Given the description of an element on the screen output the (x, y) to click on. 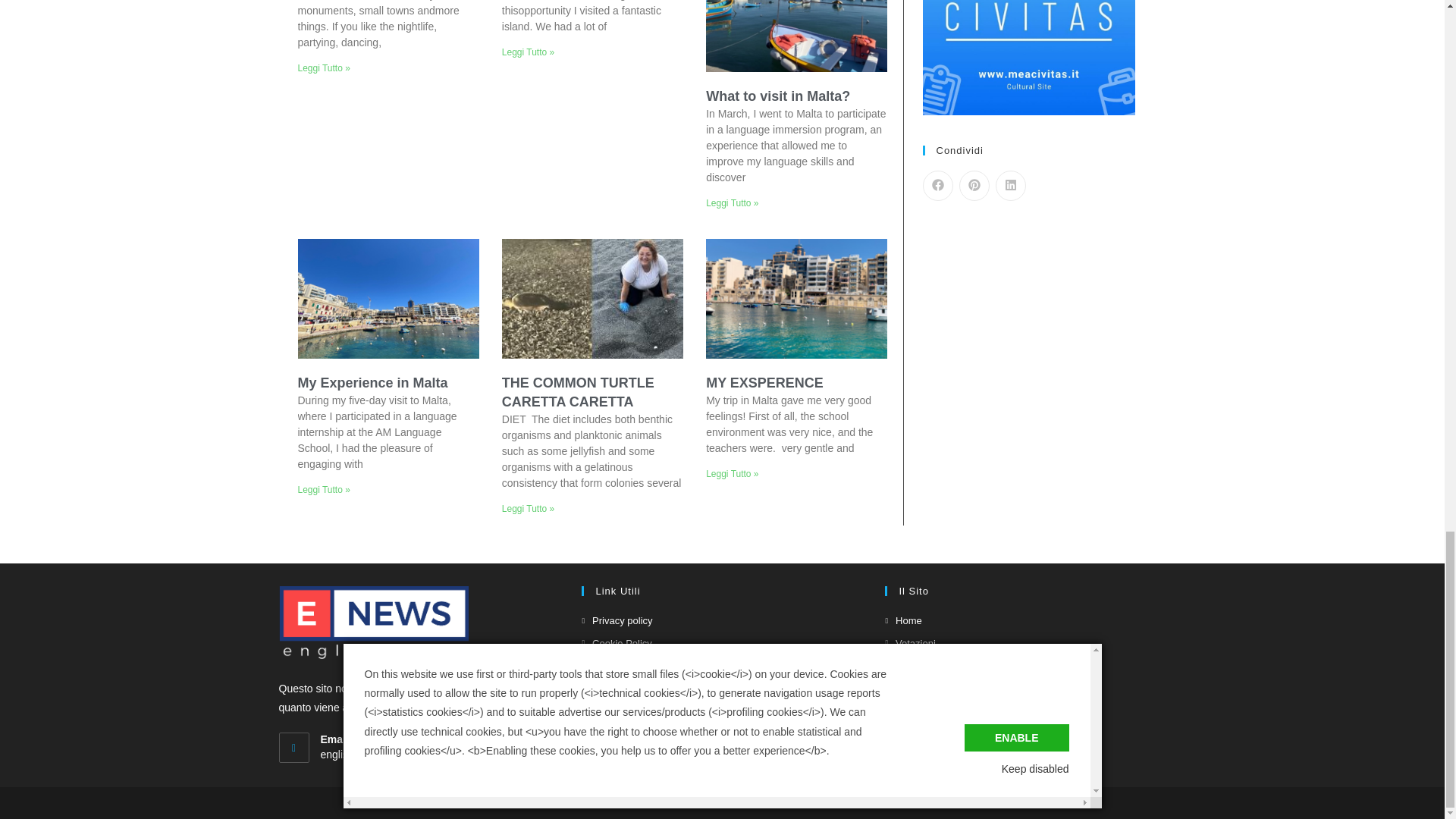
Share on Pinterest (973, 185)
Share on Facebook (936, 185)
What to visit in Malta? (778, 96)
MY EXSPERENCE (765, 382)
THE COMMON TURTLE CARETTA CARETTA (577, 392)
My Experience in Malta (371, 382)
Share on LinkedIn (1009, 185)
